Given the description of an element on the screen output the (x, y) to click on. 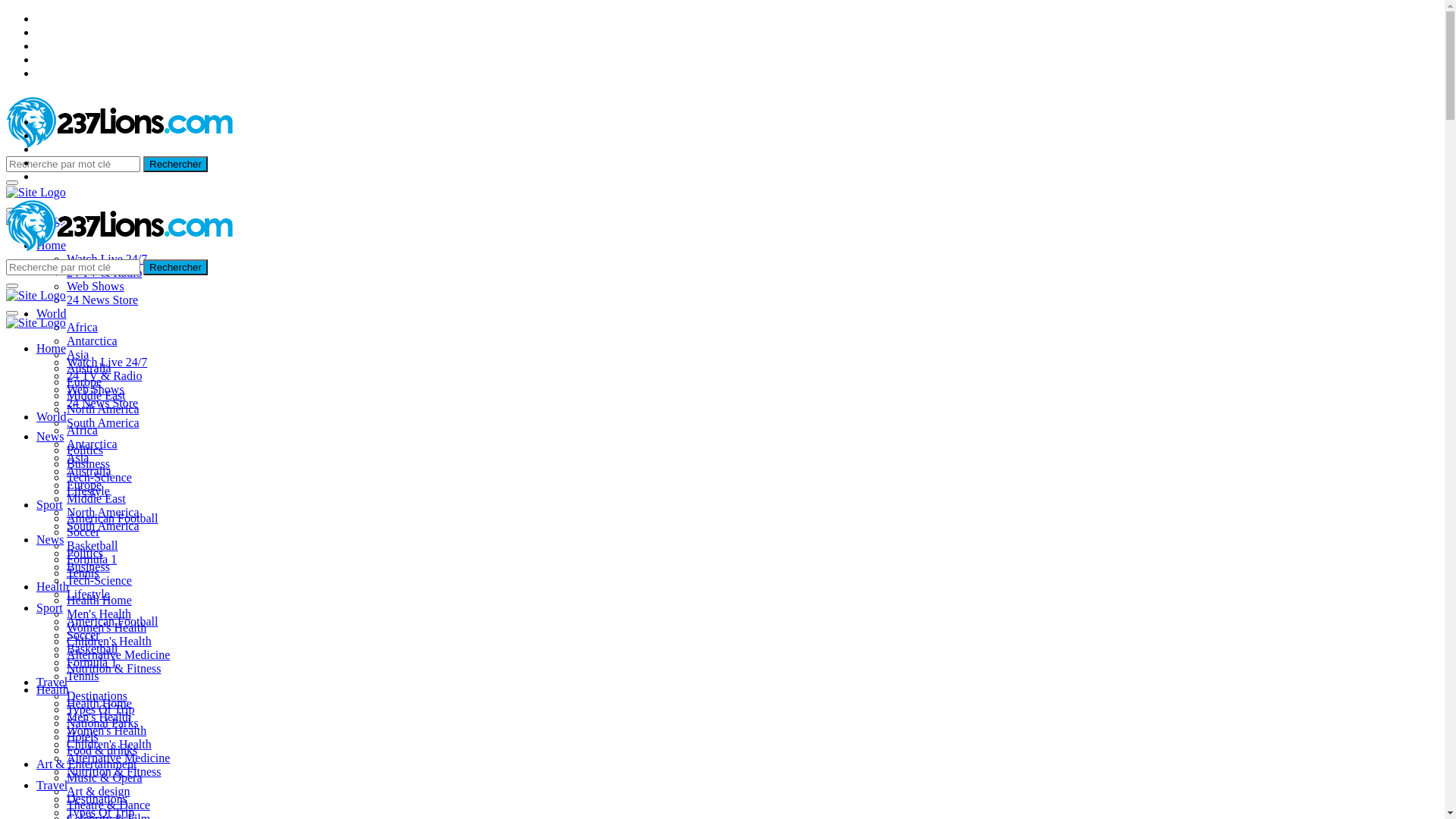
Food & drinks Element type: text (101, 749)
24 News Store Element type: text (102, 299)
World Element type: text (51, 313)
Europe Element type: text (83, 381)
Men's Health Element type: text (98, 613)
Health Home Element type: text (98, 702)
Travel Element type: text (51, 784)
North America Element type: text (102, 408)
Theatre & Dance Element type: text (108, 804)
Basketball Element type: text (92, 545)
Lifestyle Element type: text (87, 593)
Women's Health Element type: text (106, 627)
Business Element type: text (87, 566)
Asia Element type: text (77, 354)
Politics Element type: text (84, 552)
Children's Health Element type: text (108, 640)
24 TV & Radio Element type: text (103, 272)
Australia Element type: text (88, 470)
Nutrition & Fitness Element type: text (113, 771)
World Element type: text (51, 416)
Nutrition & Fitness Element type: text (113, 668)
Travel Element type: text (51, 681)
Asia Element type: text (77, 457)
Home Element type: text (50, 244)
Tech-Science Element type: text (98, 580)
Hotels Element type: text (82, 736)
Basketball Element type: text (92, 648)
Web Shows Element type: text (95, 388)
Web Shows Element type: text (95, 285)
Watch Live 24/7 Element type: text (106, 258)
Destinations Element type: text (96, 798)
24 TV & Radio Element type: text (103, 375)
Tech-Science Element type: text (98, 476)
Home Element type: text (50, 348)
Watch Live 24/7 Element type: text (106, 361)
Rechercher Element type: text (175, 164)
Art & Entertainment Element type: text (86, 763)
Antarctica Element type: text (91, 443)
Lifestyle Element type: text (87, 490)
Soccer Element type: text (83, 634)
American Football Element type: text (111, 621)
Art & design Element type: text (98, 790)
Australia Element type: text (88, 367)
Music & Opera Element type: text (104, 777)
Tennis Element type: text (82, 572)
News Element type: text (49, 539)
South America Element type: text (102, 422)
Types Of Trip Element type: text (100, 708)
American Football Element type: text (111, 517)
Soccer Element type: text (83, 531)
Middle East Element type: text (95, 498)
Sport Element type: text (49, 504)
Europe Element type: text (83, 484)
Rechercher Element type: text (175, 267)
National Parks Element type: text (102, 722)
Destinations Element type: text (96, 695)
Middle East Element type: text (95, 395)
Men's Health Element type: text (98, 716)
Africa Element type: text (81, 326)
Sport Element type: text (49, 607)
Business Element type: text (87, 463)
North America Element type: text (102, 511)
Tennis Element type: text (82, 675)
Children's Health Element type: text (108, 743)
Antarctica Element type: text (91, 340)
Alternative Medicine Element type: text (117, 654)
Africa Element type: text (81, 429)
24 News Store Element type: text (102, 402)
Politics Element type: text (84, 449)
Alternative Medicine Element type: text (117, 757)
News Element type: text (49, 435)
Health Home Element type: text (98, 599)
South America Element type: text (102, 525)
Formula 1 Element type: text (91, 661)
Health Element type: text (52, 586)
Formula 1 Element type: text (91, 558)
Health Element type: text (52, 689)
Women's Health Element type: text (106, 730)
